Given the description of an element on the screen output the (x, y) to click on. 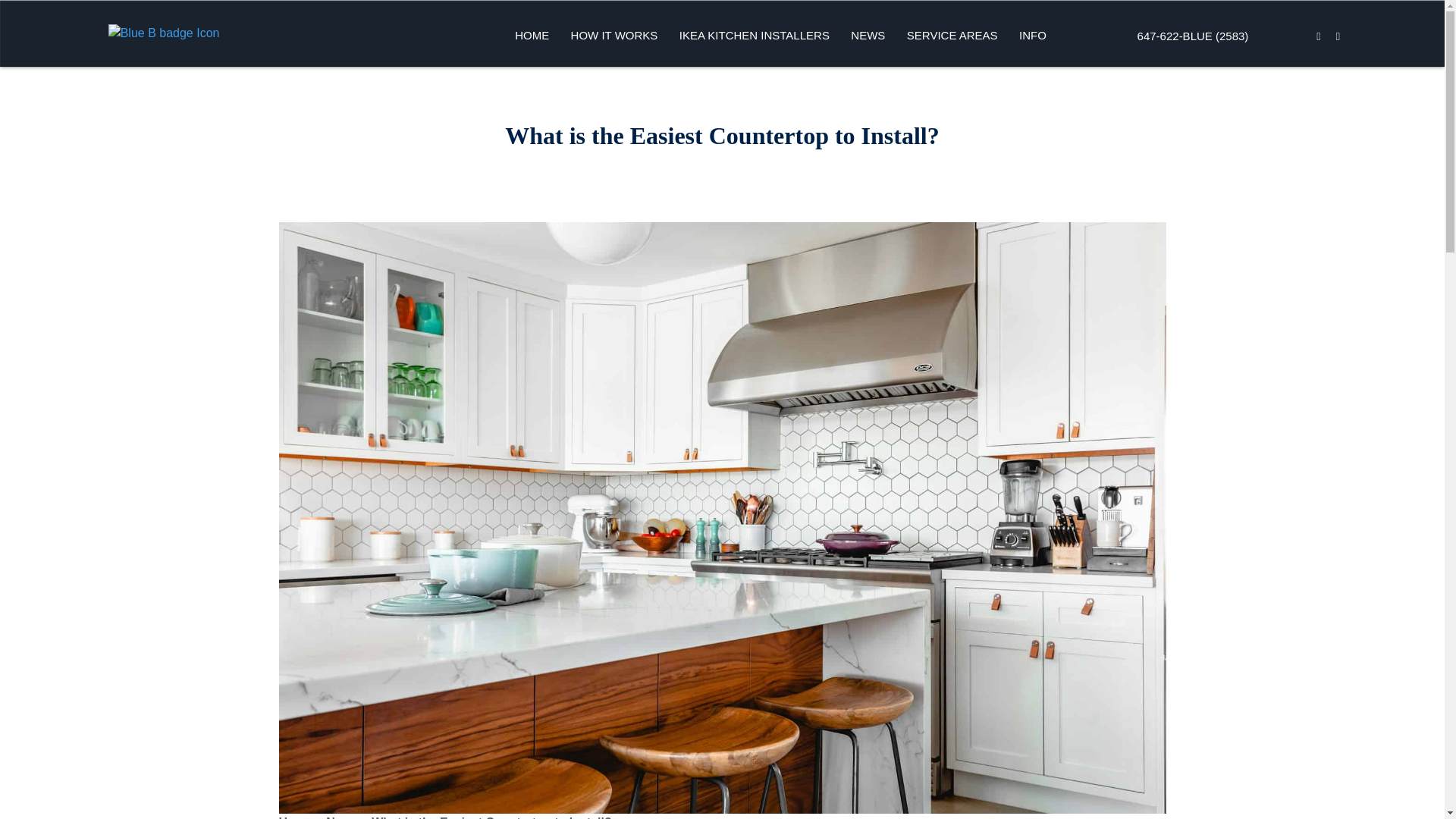
SERVICE AREAS (952, 35)
NEWS PAGE 1 (847, 78)
INFO (1032, 35)
Home (296, 817)
What is the Easiest Countertop to Install? (491, 817)
IKEA KITCHEN INSTALLERS (753, 35)
HOW IT WORKS (614, 35)
CONTACT (1014, 78)
NEWS (867, 35)
KITCHEN REFACING OAKVILLE (902, 78)
HOME (531, 35)
News (342, 817)
